Given the description of an element on the screen output the (x, y) to click on. 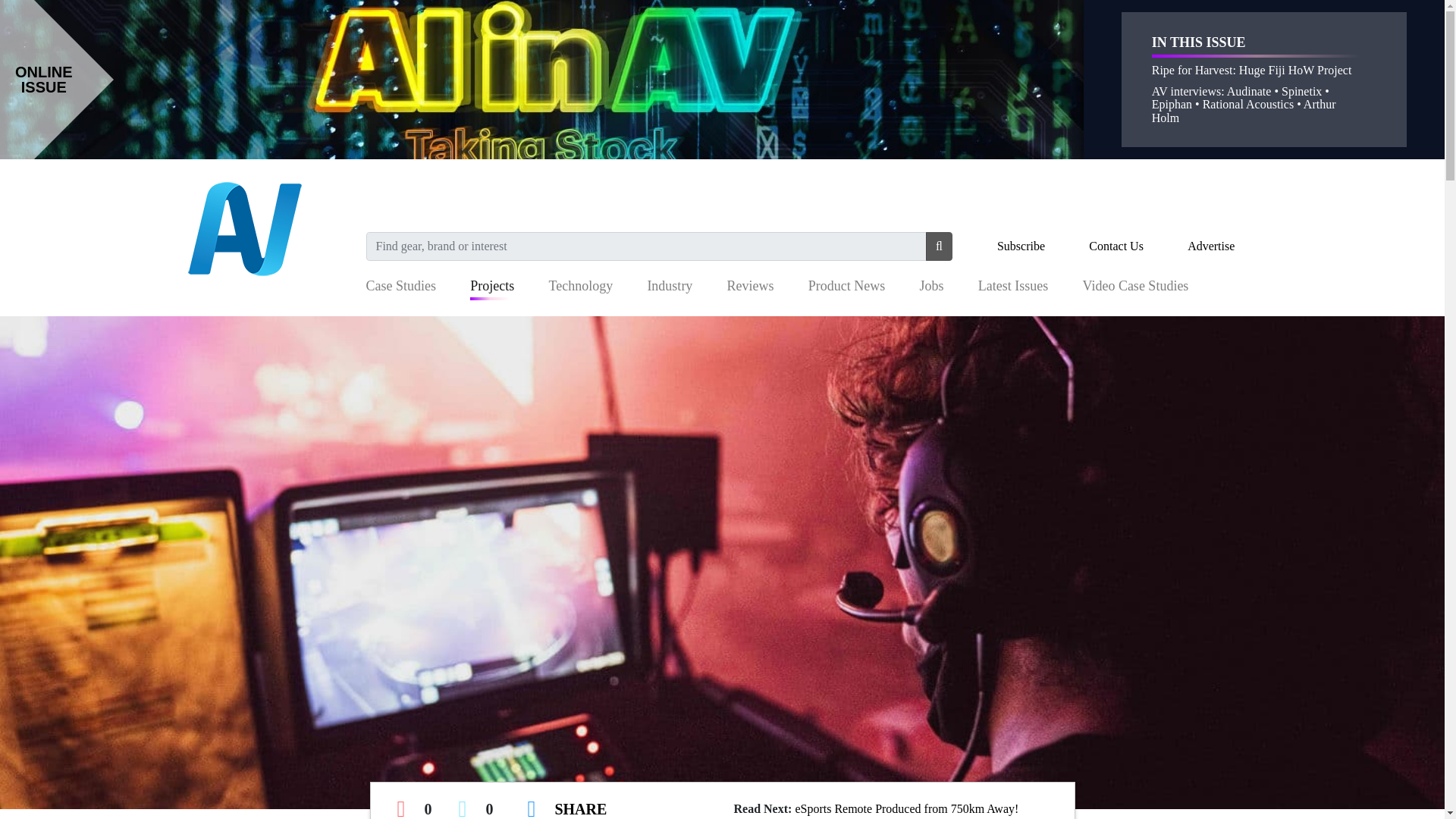
Audinate (1249, 91)
Ripe for Harvest: Huge Fiji HoW Project (1251, 69)
Spinetix (1301, 91)
Epiphan (1171, 103)
Arthur Holm (1243, 110)
Rational Acoustic (1245, 103)
